Given the description of an element on the screen output the (x, y) to click on. 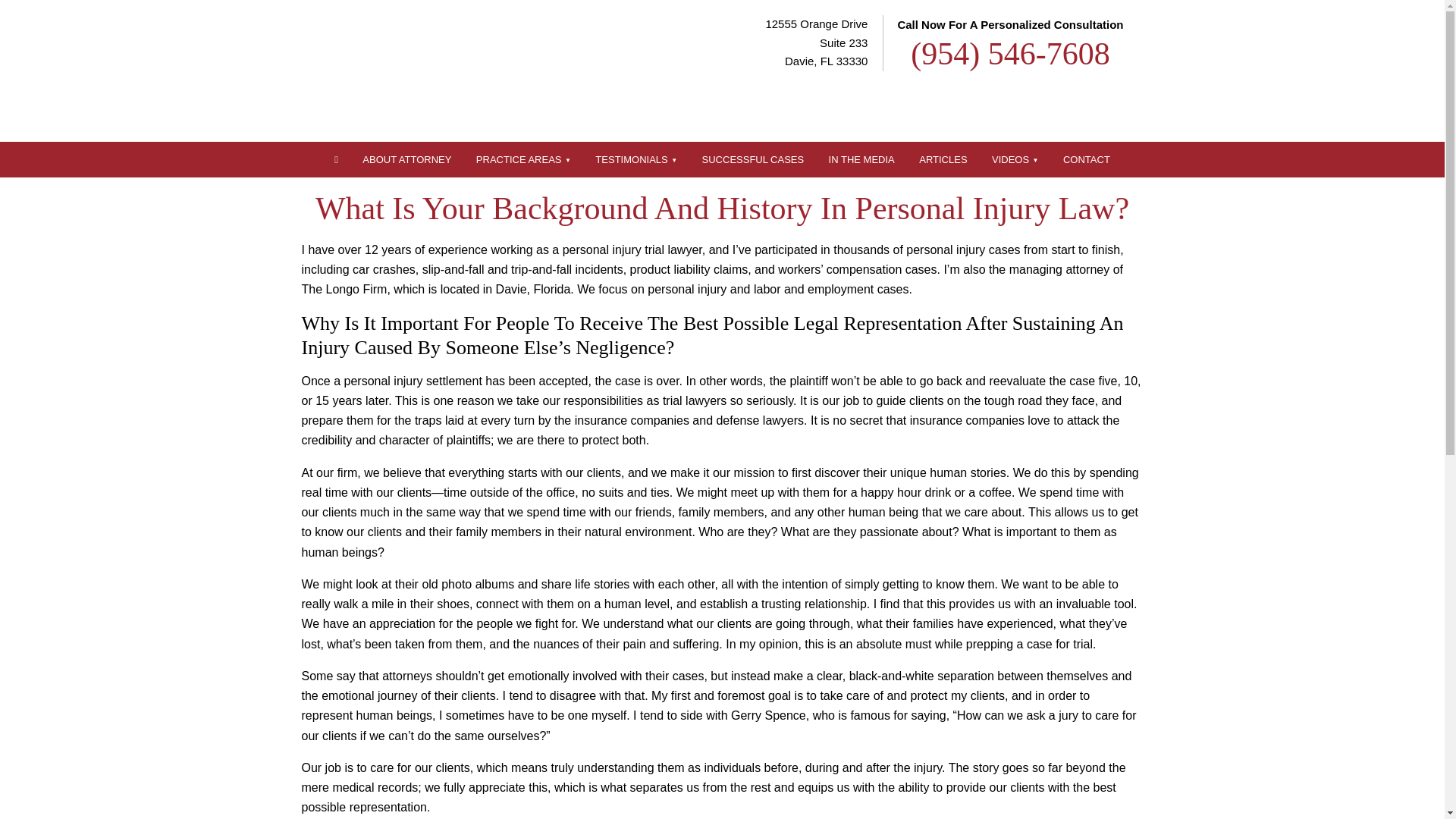
PRACTICE AREAS (522, 159)
TESTIMONIALS (636, 159)
IN THE MEDIA (861, 159)
VIDEOS (1015, 159)
ARTICLES (942, 159)
ABOUT ATTORNEY (406, 159)
SUCCESSFUL CASES (753, 159)
CONTACT (1086, 159)
